Given the description of an element on the screen output the (x, y) to click on. 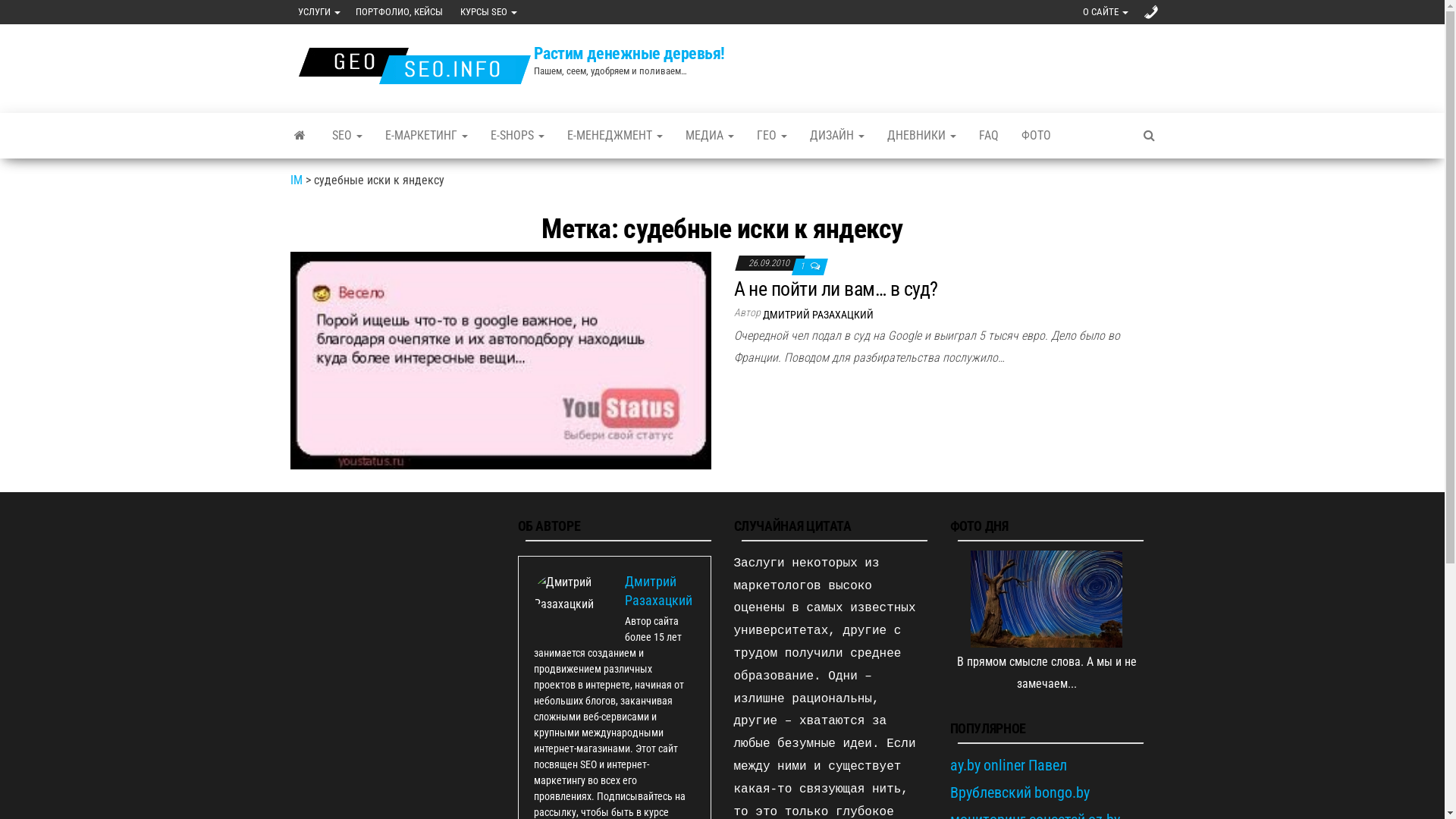
SEO Element type: text (346, 135)
FAQ Element type: text (988, 135)
bongo.by Element type: text (1061, 792)
IM Element type: text (295, 179)
1 Element type: text (802, 265)
onliner Element type: text (1003, 765)
E-SHOPS Element type: text (517, 135)
ay.by Element type: text (964, 765)
